Given the description of an element on the screen output the (x, y) to click on. 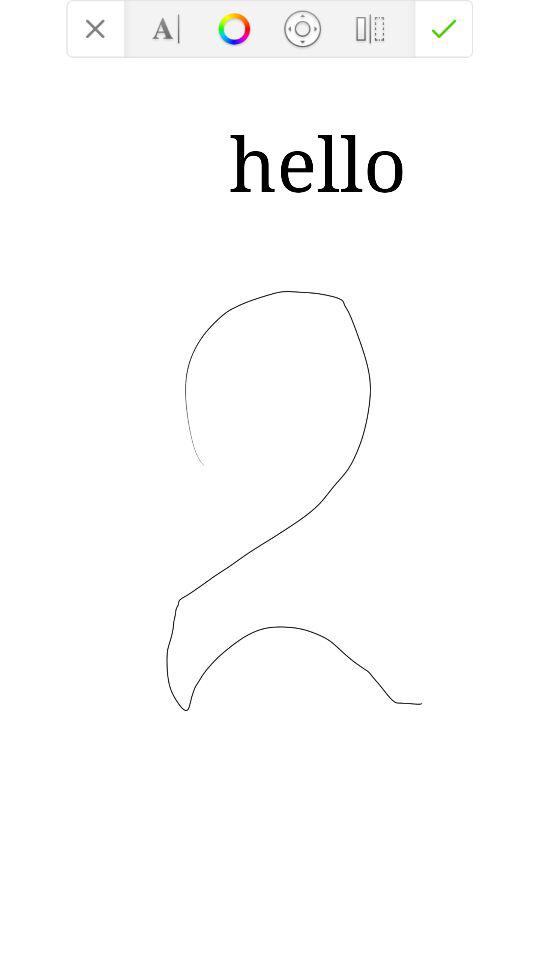
expand image (302, 28)
